Given the description of an element on the screen output the (x, y) to click on. 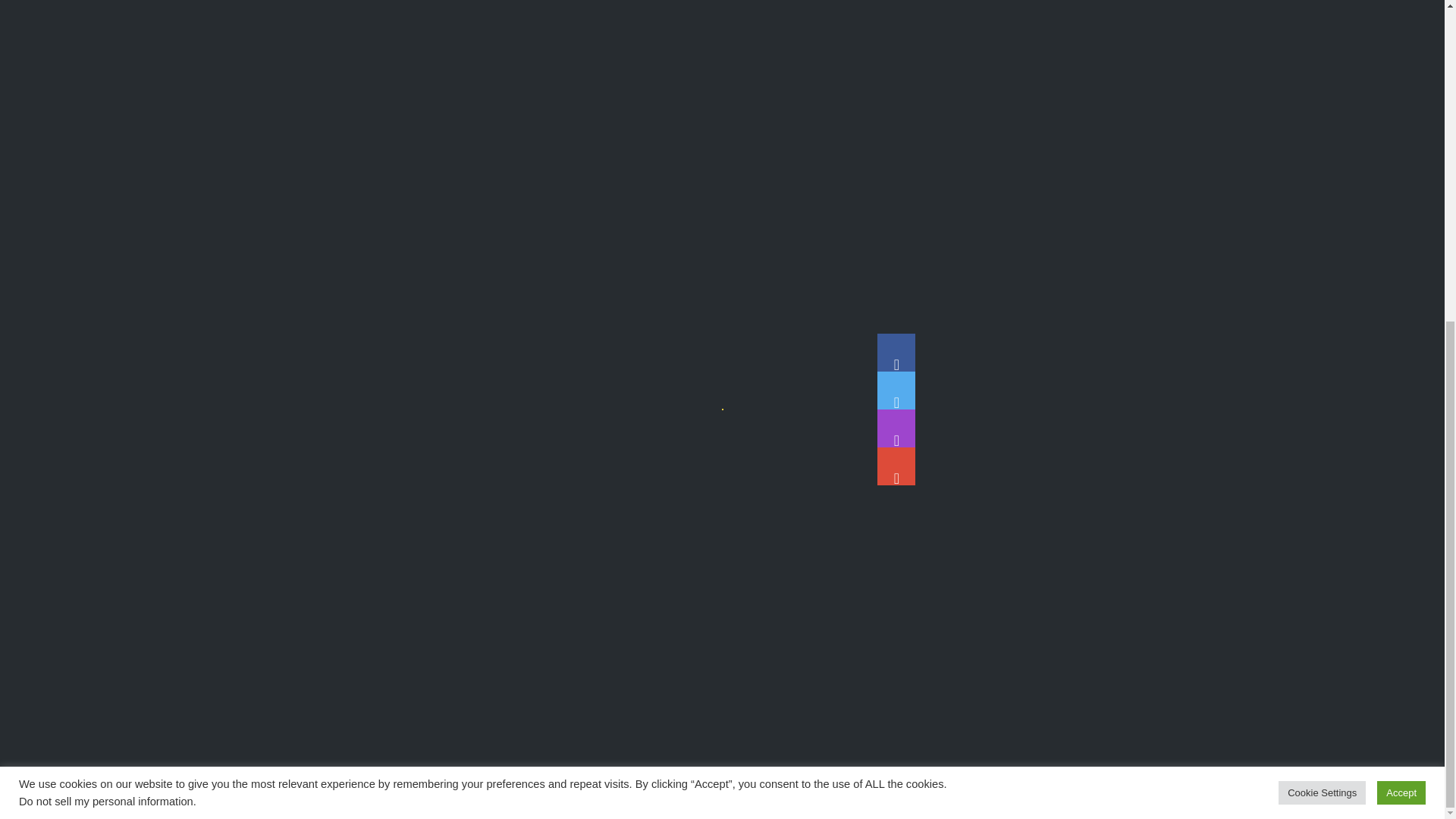
Do not sell my personal information (105, 279)
Terms Of Use (824, 794)
ForeverHomesForFosterKids.org (696, 670)
Click here (377, 440)
Cookie Settings (1321, 270)
Privacy Policy (745, 794)
Accept (1401, 270)
